Given the description of an element on the screen output the (x, y) to click on. 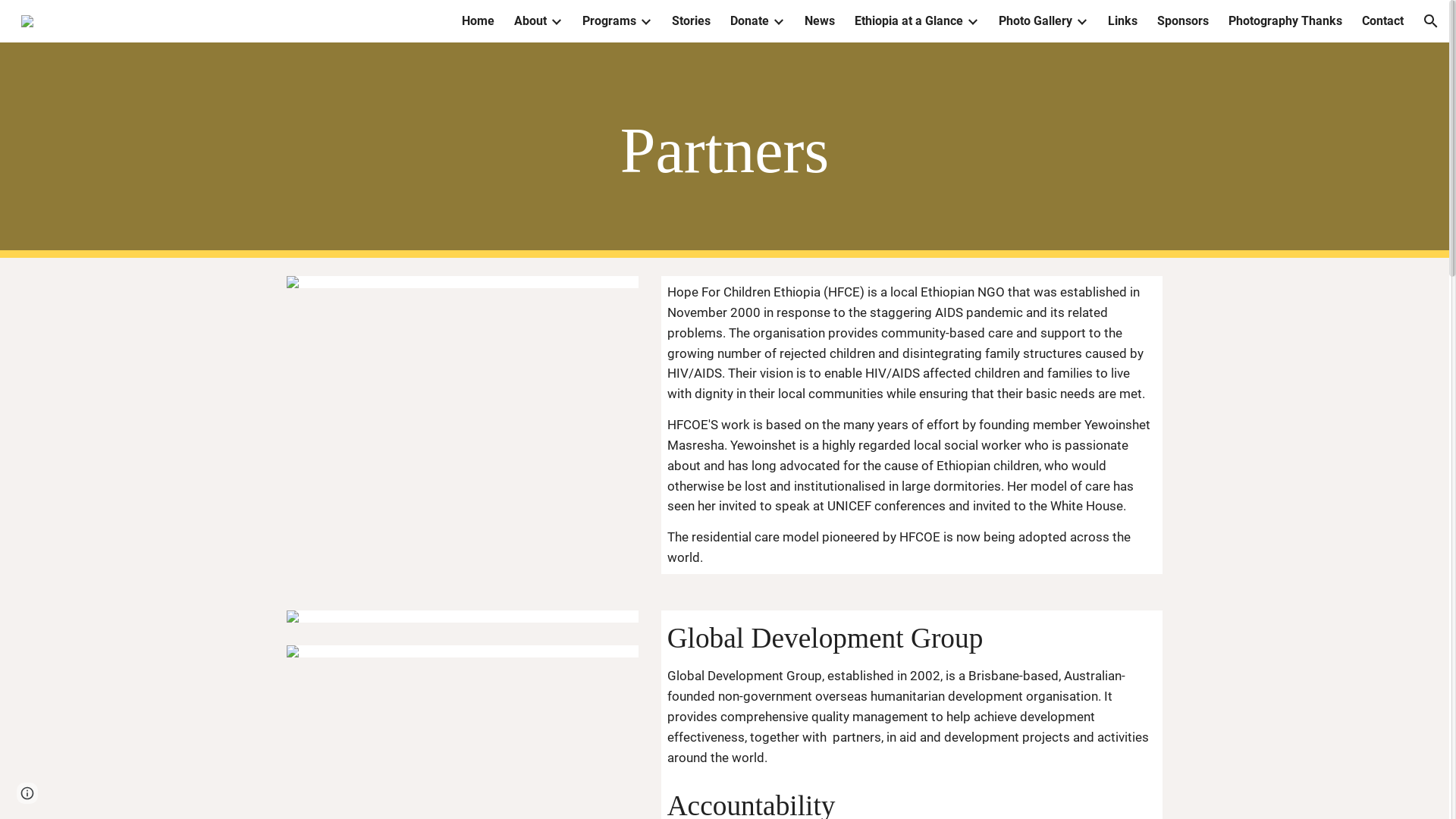
Expand/Collapse Element type: hover (645, 20)
News Element type: text (819, 20)
Expand/Collapse Element type: hover (555, 20)
Contact Element type: text (1382, 20)
Photography Thanks Element type: text (1285, 20)
Expand/Collapse Element type: hover (777, 20)
Links Element type: text (1122, 20)
Stories Element type: text (690, 20)
About Element type: text (530, 20)
Photo Gallery Element type: text (1035, 20)
Programs Element type: text (609, 20)
Sponsors Element type: text (1182, 20)
Donate Element type: text (749, 20)
Expand/Collapse Element type: hover (972, 20)
Home Element type: text (477, 20)
Expand/Collapse Element type: hover (1081, 20)
Ethiopia at a Glance Element type: text (908, 20)
